Given the description of an element on the screen output the (x, y) to click on. 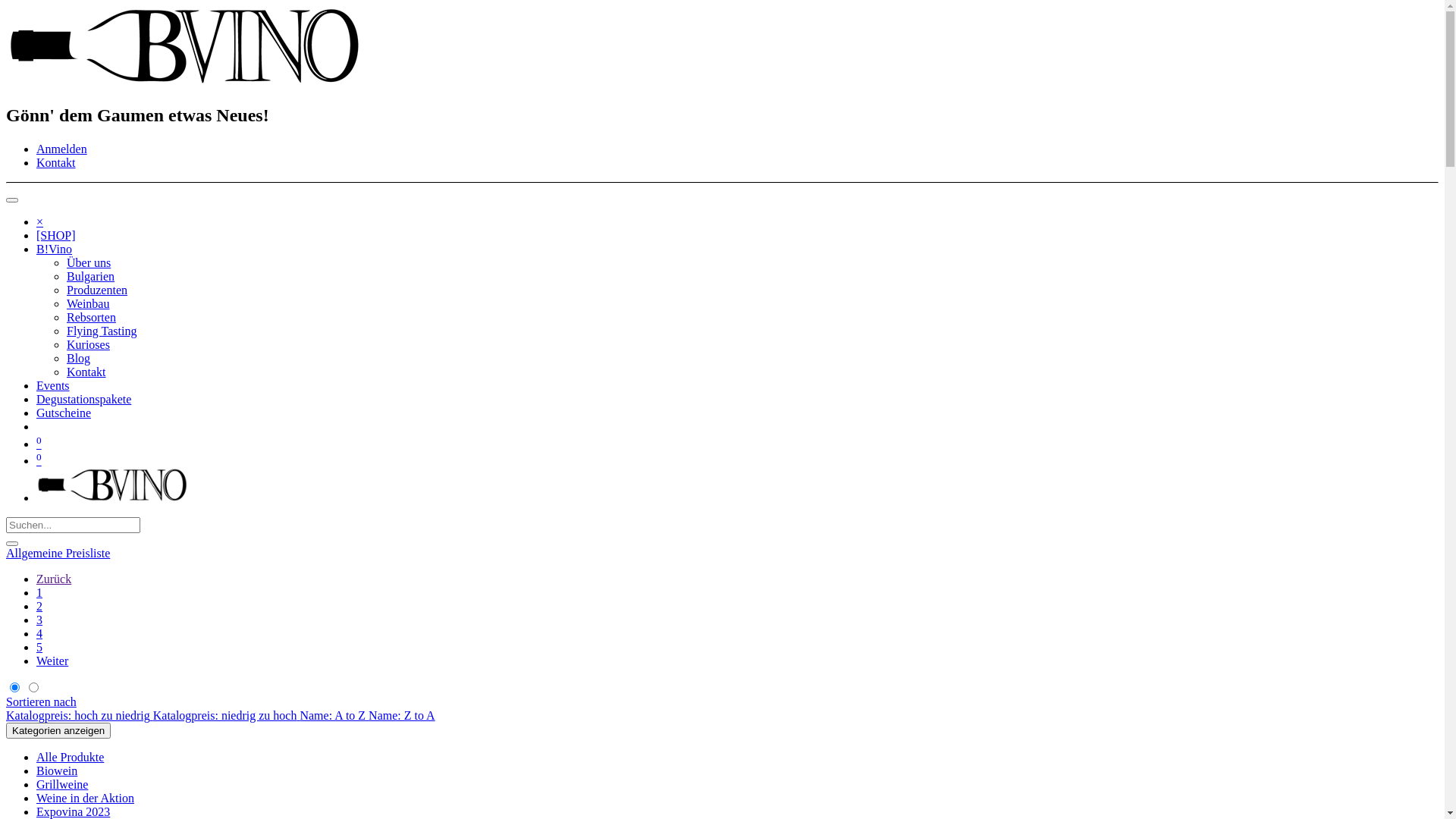
Weine in der Aktion Element type: text (85, 797)
Weiter Element type: text (52, 660)
Kategorien anzeigen Element type: text (58, 730)
5 Element type: text (39, 646)
Kurioses Element type: text (87, 344)
Events Element type: text (52, 385)
0 Element type: text (38, 443)
Expovina 2023 Element type: text (72, 811)
Suchen Element type: hover (12, 543)
Alle Produkte Element type: text (69, 756)
3 Element type: text (39, 619)
Kontakt Element type: text (55, 162)
Gitter Element type: hover (15, 687)
Anmelden Element type: text (61, 148)
Name: A to Z Element type: text (333, 715)
B!Vino Element type: text (54, 248)
B!Vino - Bulgarischer Wein Element type: hover (184, 81)
Liste Element type: hover (32, 687)
1 Element type: text (39, 592)
4 Element type: text (39, 633)
Allgemeine Preisliste Element type: text (57, 552)
Katalogpreis: hoch zu niedrig Element type: text (79, 715)
Grillweine Element type: text (61, 784)
Degustationspakete Element type: text (83, 398)
Gutscheine Element type: text (63, 412)
Name: Z to A Element type: text (401, 715)
Rebsorten Element type: text (91, 316)
2 Element type: text (39, 605)
Katalogpreis: niedrig zu hoch Element type: text (226, 715)
[SHOP] Element type: text (55, 235)
B!Vino - Bulgarischer Wein Element type: hover (112, 497)
Weinbau Element type: text (87, 303)
Blog Element type: text (78, 357)
Sortieren nach Element type: text (41, 701)
Flying Tasting Element type: text (101, 330)
Biowein Element type: text (56, 770)
Bulgarien Element type: text (90, 275)
0 Element type: text (38, 460)
Produzenten Element type: text (96, 289)
Kontakt Element type: text (86, 371)
